Given the description of an element on the screen output the (x, y) to click on. 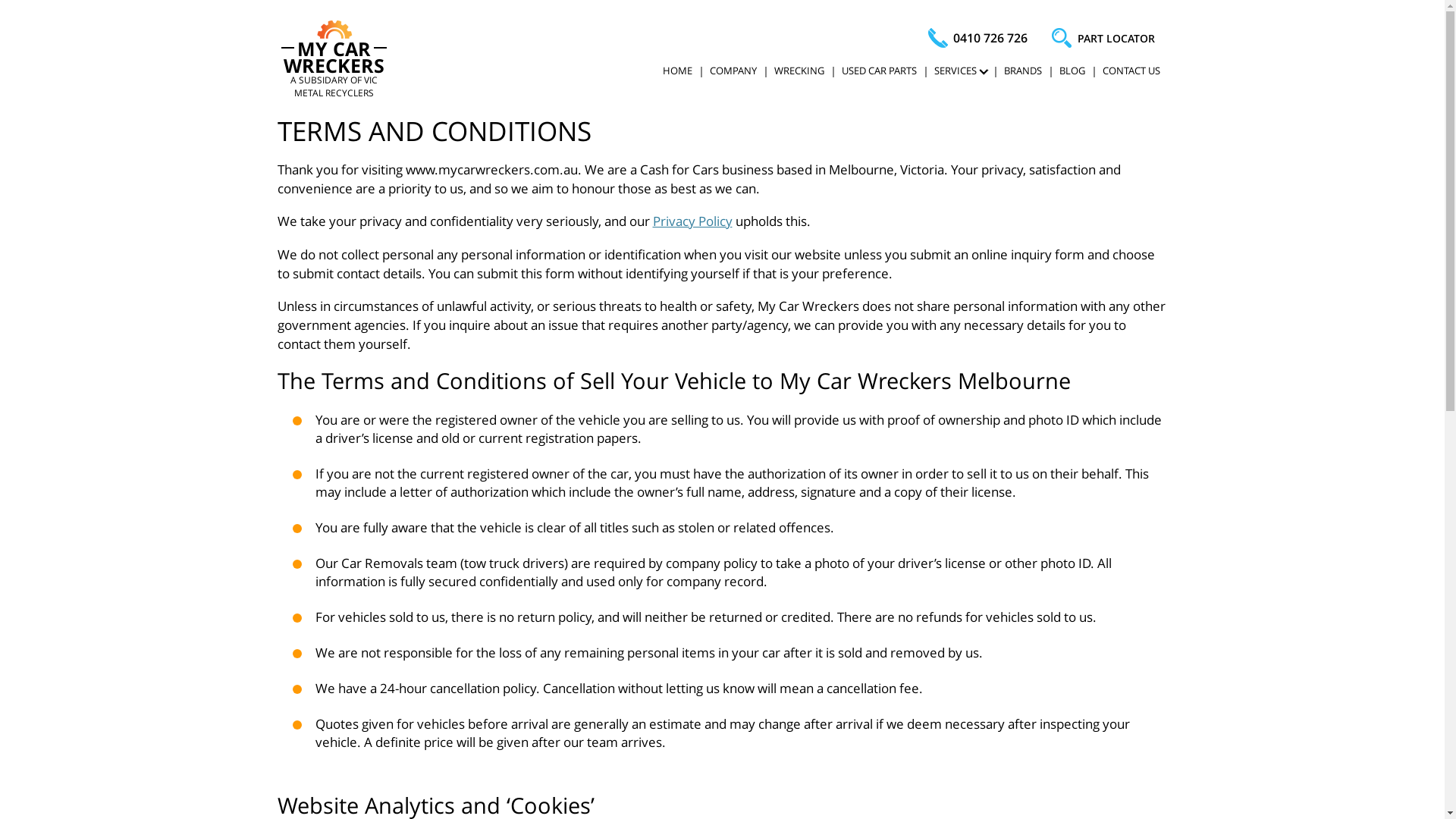
COMPANY Element type: text (733, 70)
USED CAR PARTS Element type: text (879, 70)
PART LOCATOR Element type: text (1104, 38)
WRECKING Element type: text (798, 70)
0410 726 726 Element type: text (977, 37)
SERVICES Element type: text (960, 70)
BRANDS Element type: text (1022, 70)
HOME Element type: text (677, 70)
MY CAR WRECKERS
A SUBSIDARY OF VIC METAL RECYCLERS Element type: text (333, 59)
CONTACT US Element type: text (1131, 70)
Privacy Policy Element type: text (691, 220)
My Car Wreckers Element type: hover (333, 30)
BLOG Element type: text (1071, 70)
